Given the description of an element on the screen output the (x, y) to click on. 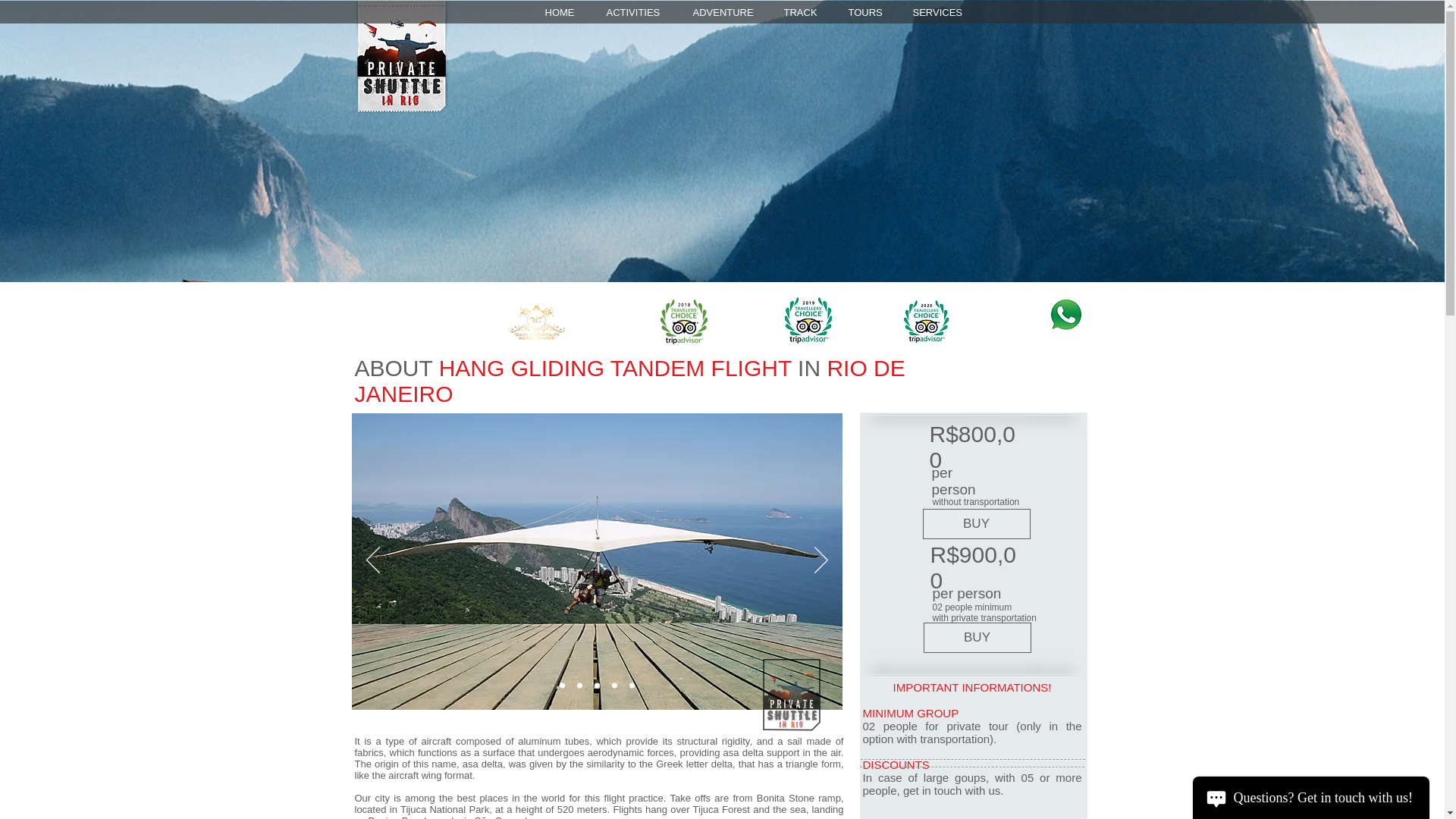
HOME (564, 12)
ACTIVITIES (637, 12)
s-tripadvisor-travelers-choice-2017-2020 (925, 321)
